Given the description of an element on the screen output the (x, y) to click on. 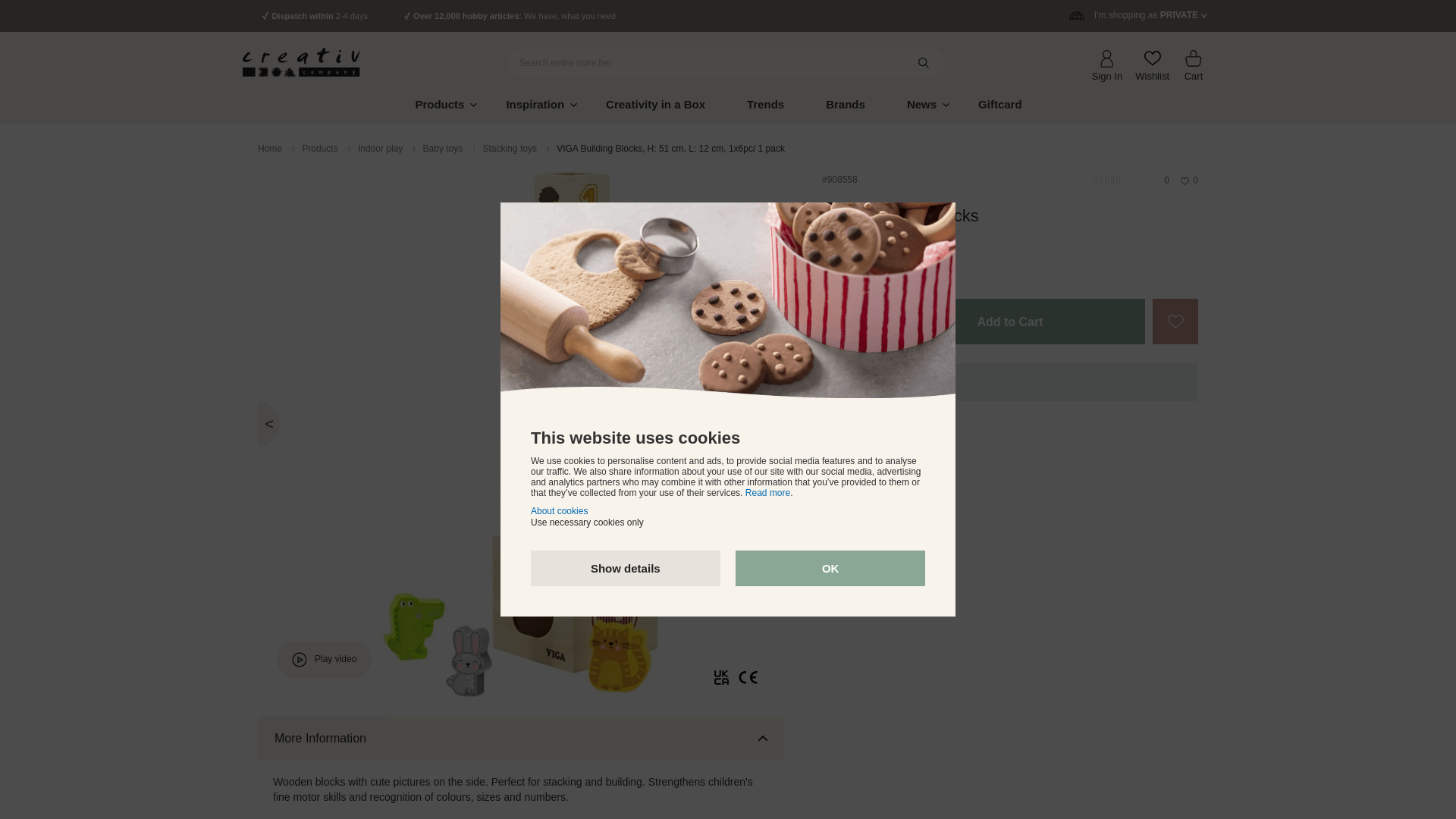
1 (844, 320)
OK (829, 568)
Use necessary cookies only (587, 521)
Read more (767, 492)
Show details (625, 568)
About cookies (559, 511)
